Given the description of an element on the screen output the (x, y) to click on. 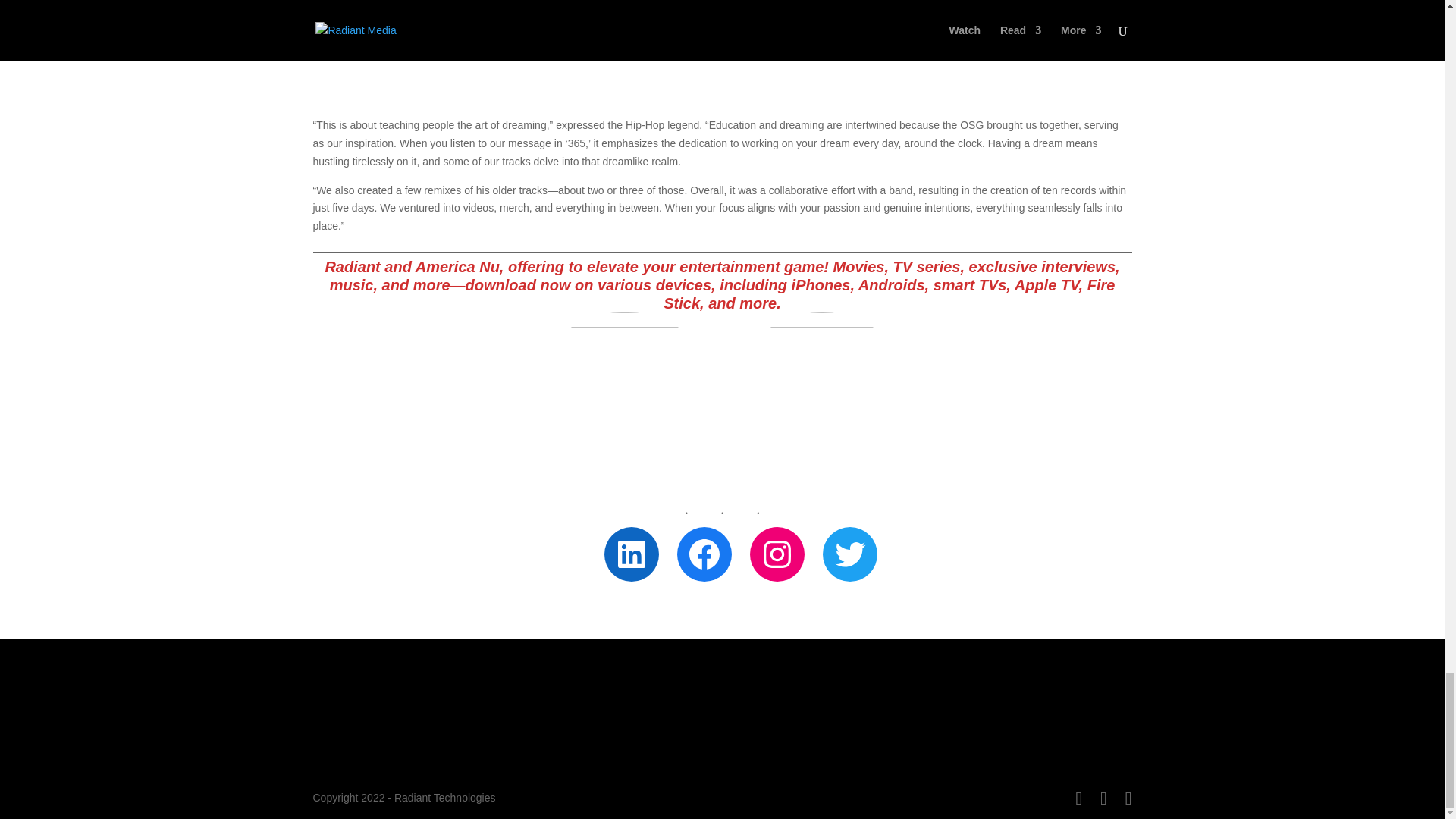
Twitter (849, 554)
LinkedIn (631, 554)
Facebook (703, 554)
Instagram (776, 554)
